Given the description of an element on the screen output the (x, y) to click on. 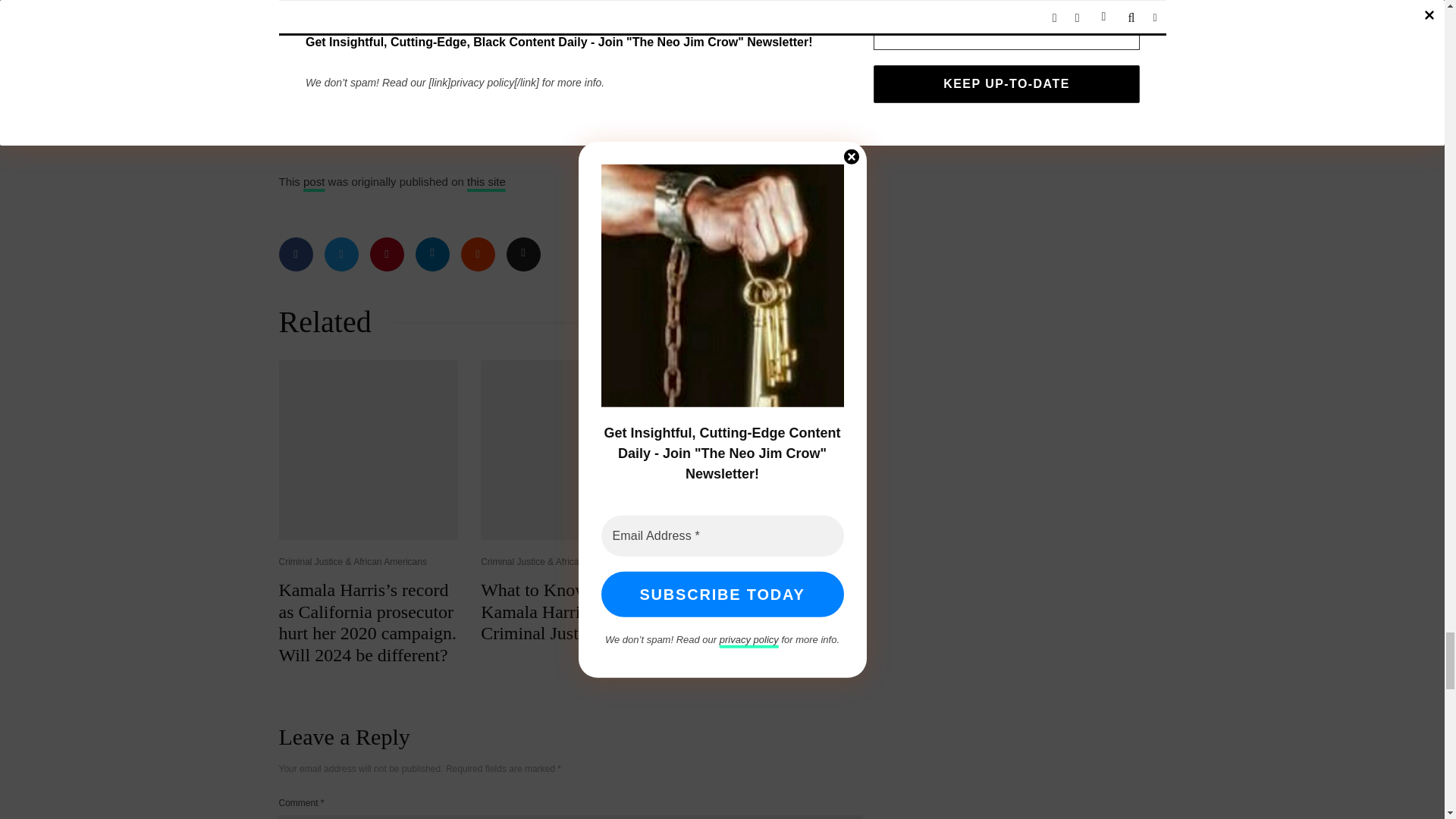
Keep Up-to-date (761, 111)
